Given the description of an element on the screen output the (x, y) to click on. 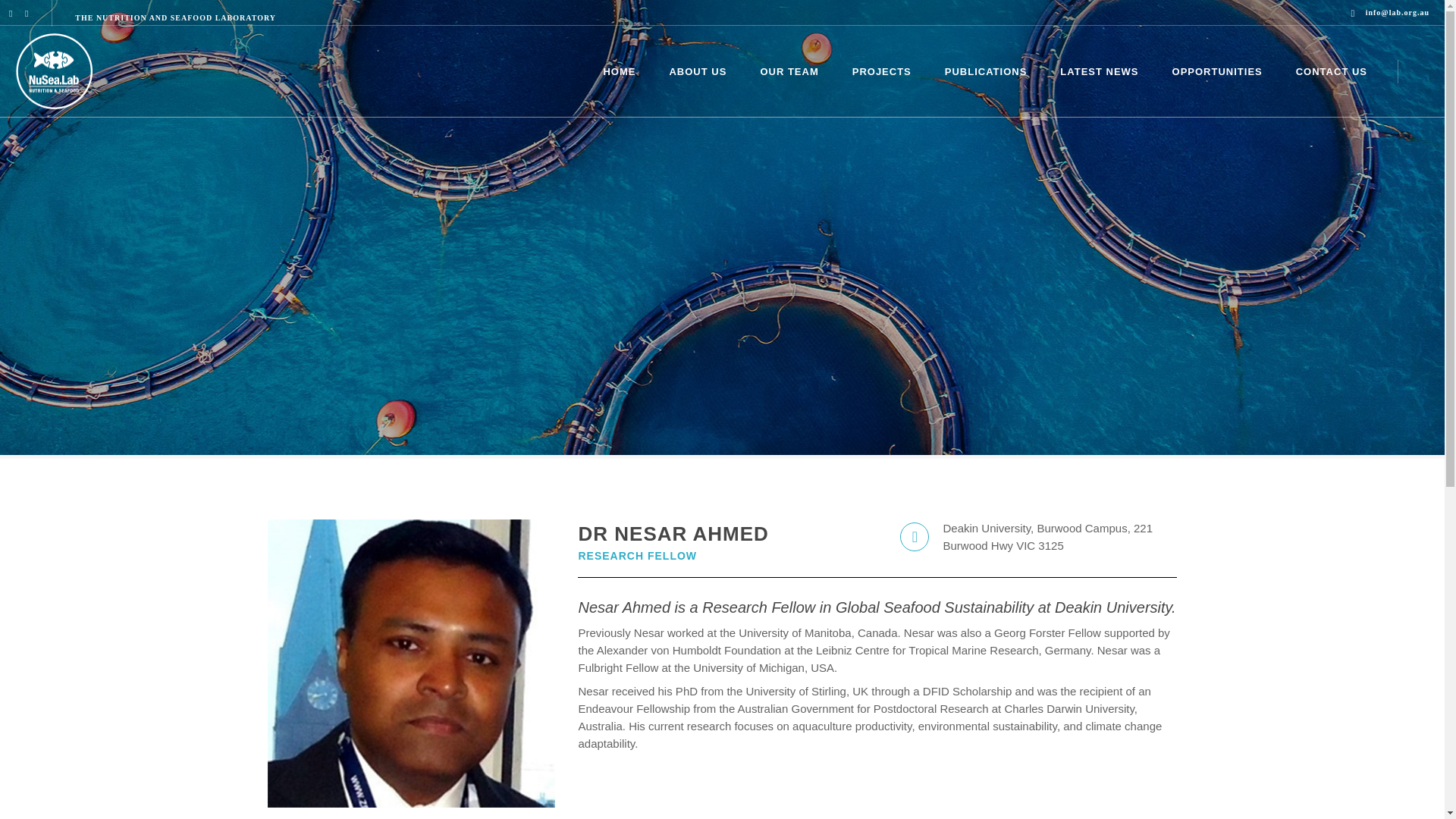
Nesar-Ahmed (1099, 71)
